Given the description of an element on the screen output the (x, y) to click on. 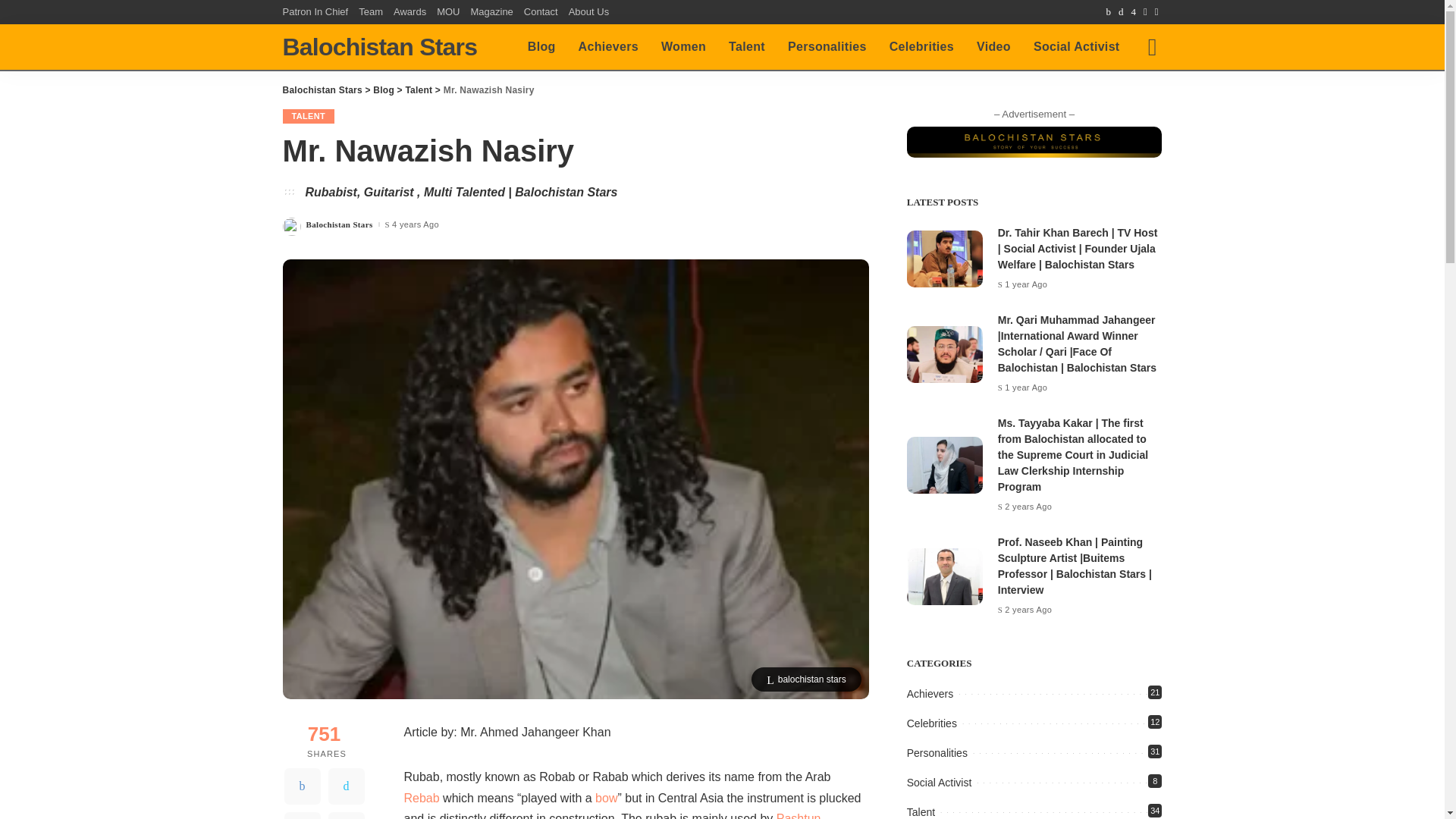
Twitter (345, 786)
Contact (540, 11)
MOU (447, 11)
Facebook (301, 786)
Team (370, 11)
Go to the Talent Category archives. (418, 90)
Go to Balochistan Stars. (321, 90)
Go to Blog. (383, 90)
Magazine (491, 11)
About Us (588, 11)
Pinterest (301, 815)
Awards (409, 11)
Balochistan Stars (379, 46)
Patron In Chief (317, 11)
Blog (541, 46)
